Given the description of an element on the screen output the (x, y) to click on. 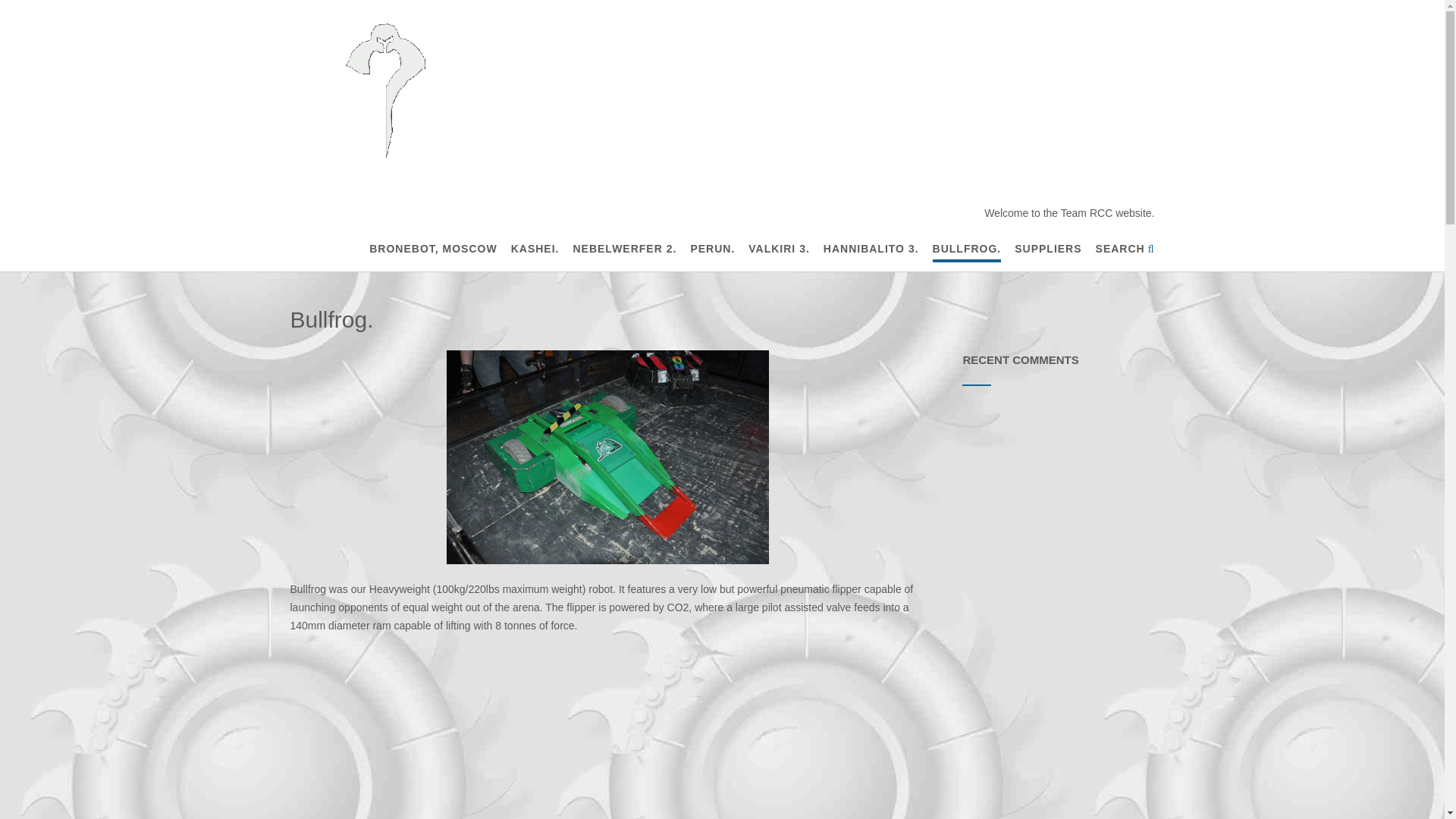
BRONEBOT, MOSCOW (432, 248)
SEARCH (1125, 248)
SUPPLIERS (1047, 248)
HANNIBALITO 3. (871, 248)
PERUN. (712, 248)
NEBELWERFER 2. (624, 248)
VALKIRI 3. (778, 248)
BULLFROG. (967, 248)
KASHEI. (535, 248)
